Given the description of an element on the screen output the (x, y) to click on. 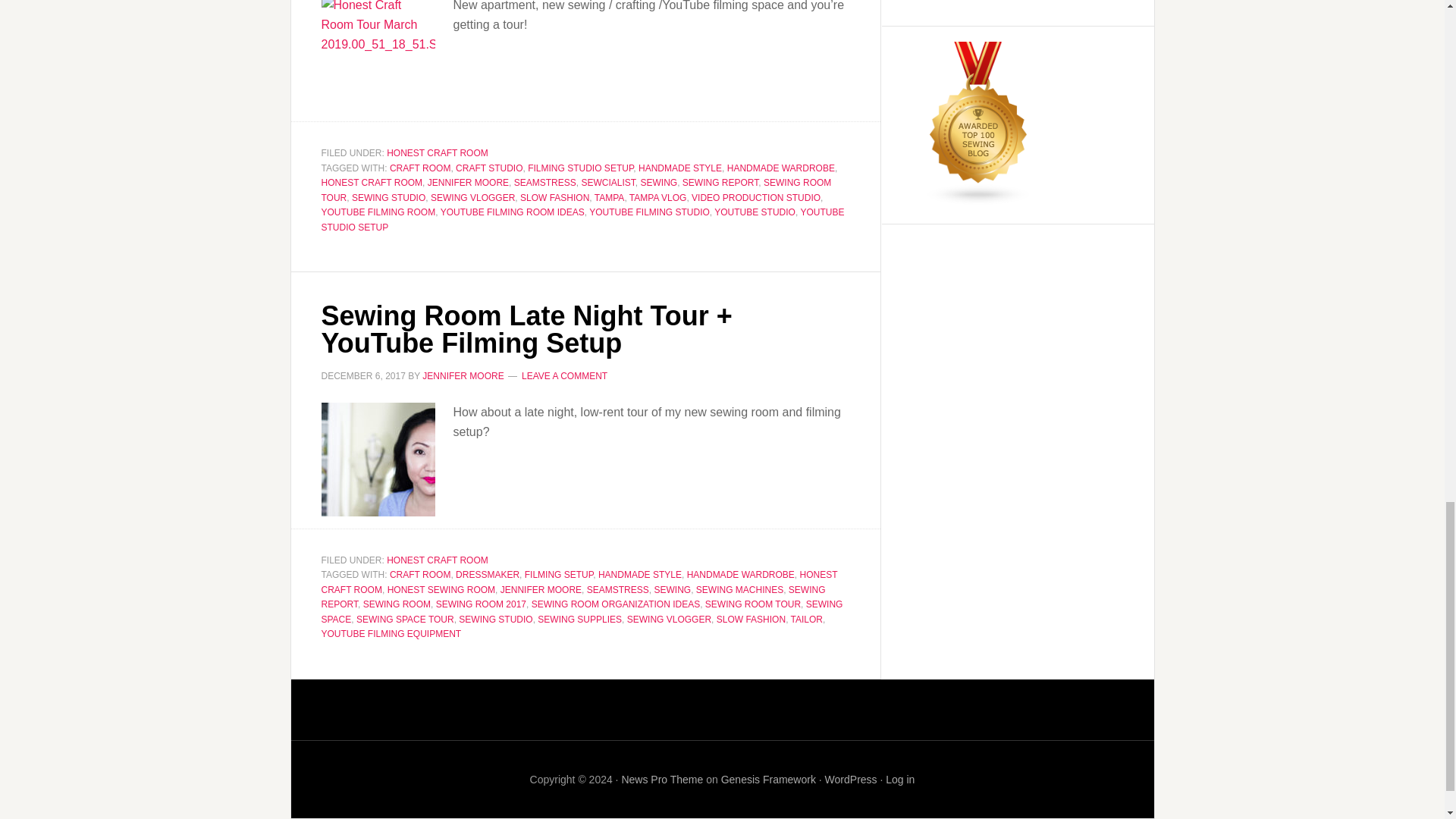
Sewing blogs (977, 197)
